Given the description of an element on the screen output the (x, y) to click on. 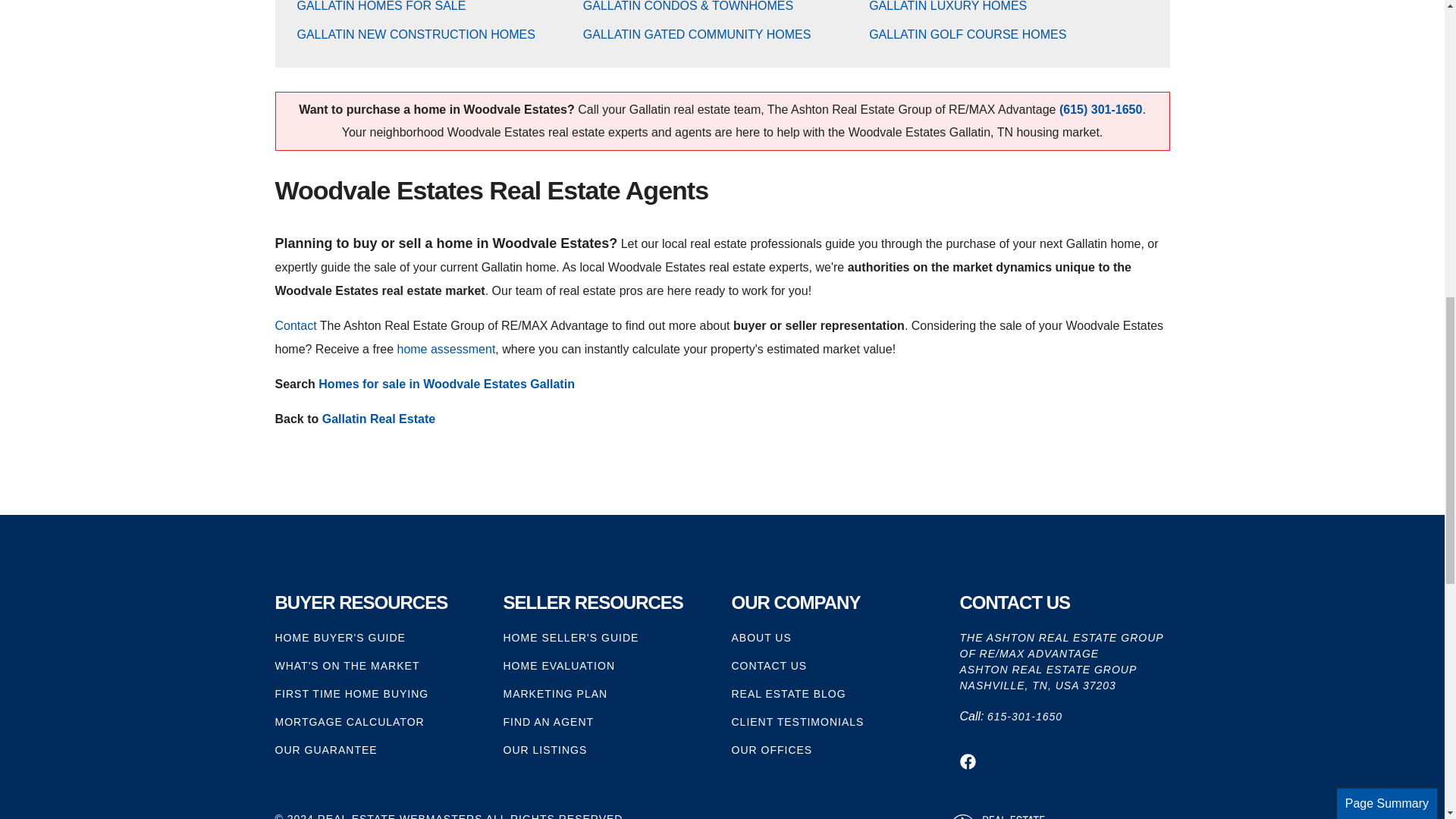
Gallatin New Construction Homes (416, 33)
Gallatin Luxury Homes (947, 6)
Gallatin Gated Community Homes (696, 33)
Contact Us (295, 325)
Gallatin Homes (381, 6)
Gallatin Golf Course Homes (967, 33)
FACEBOOK (967, 761)
Gallatin Condos Townhomes (688, 6)
